Given the description of an element on the screen output the (x, y) to click on. 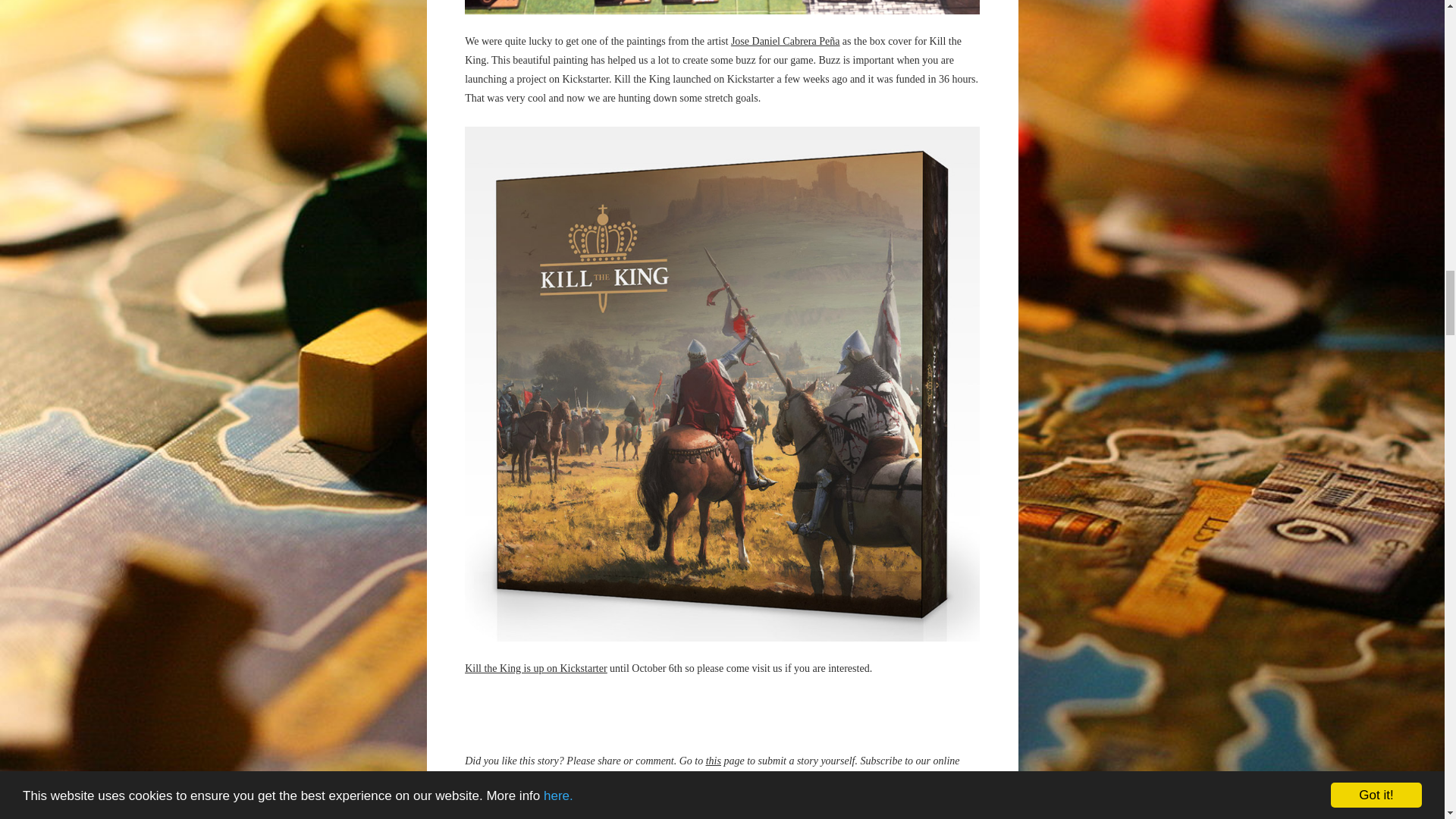
Kill the King is up on Kickstarter (535, 668)
this (713, 760)
here (516, 779)
